Given the description of an element on the screen output the (x, y) to click on. 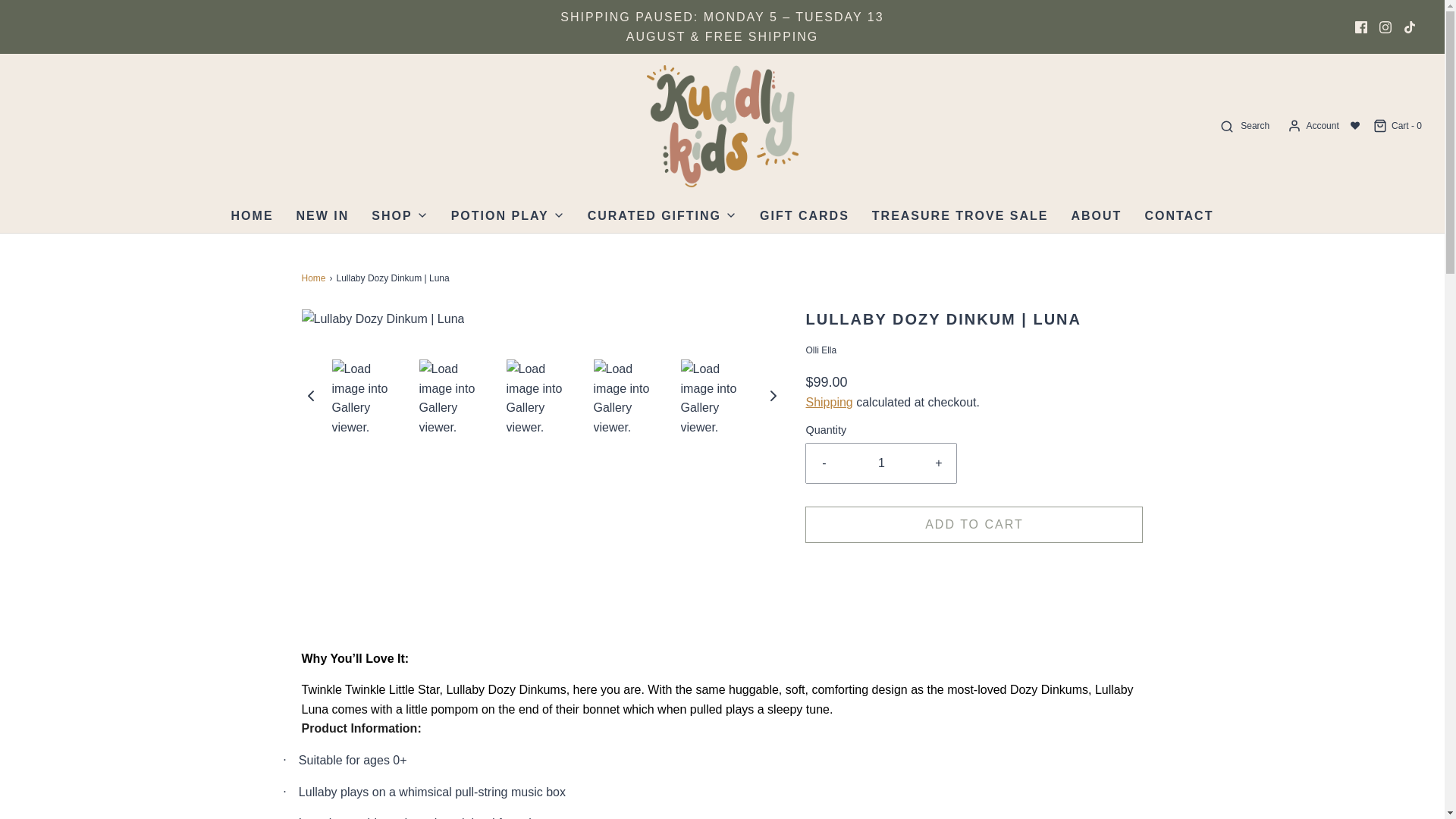
FACEBOOK ICON (1361, 27)
TIKTOK ICON (1409, 27)
1 (881, 463)
Cart (1396, 125)
INSTAGRAM ICON (1385, 27)
Search (1243, 125)
Log in (1312, 125)
FACEBOOK ICON (1361, 27)
INSTAGRAM ICON (1384, 27)
Back to the frontpage (315, 278)
